Given the description of an element on the screen output the (x, y) to click on. 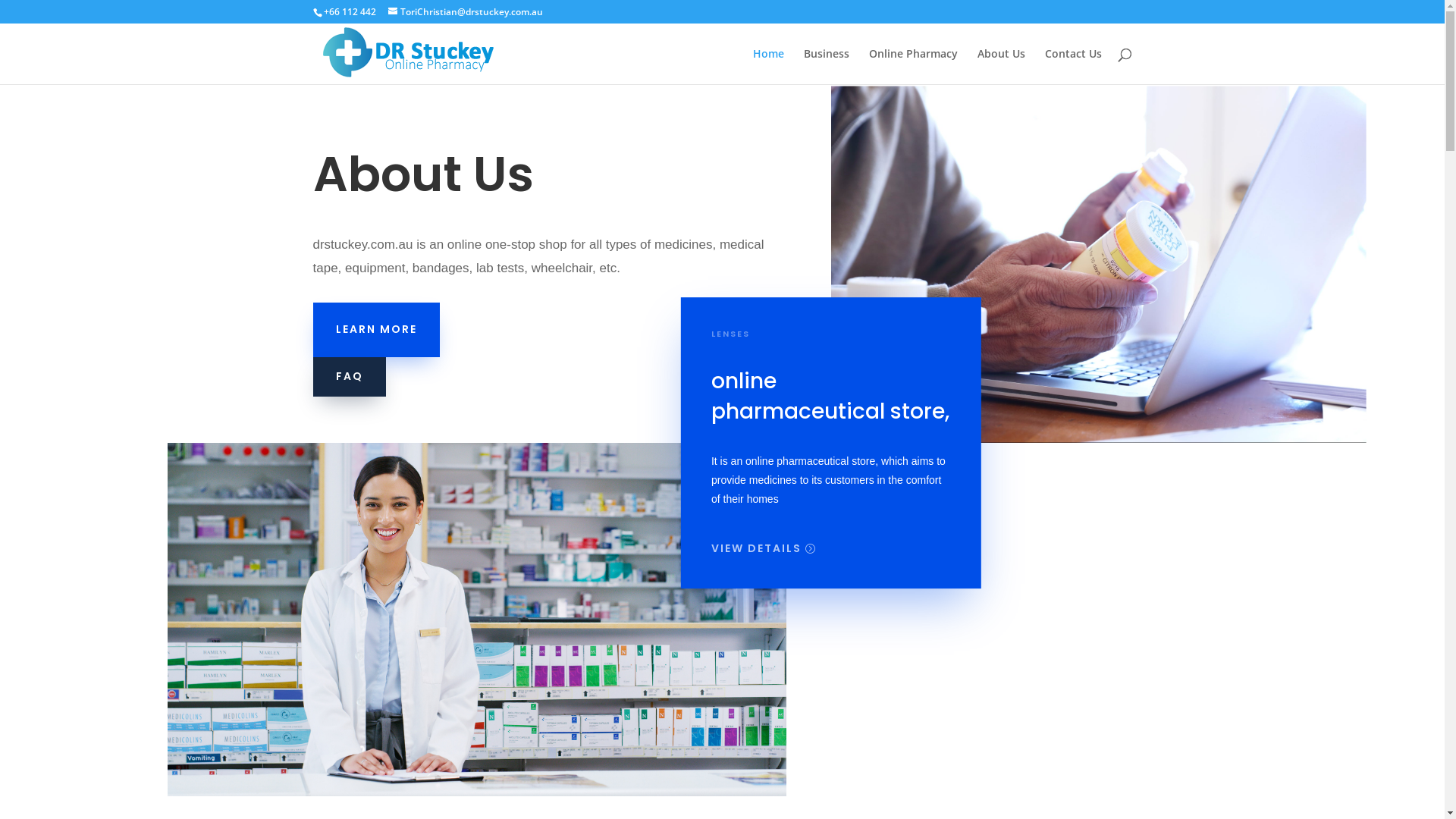
VIEW DETAILS Element type: text (756, 548)
1597323669-GettyImages-837647832 Element type: hover (1054, 234)
About Us Element type: text (1000, 66)
There's sure to be a treatment around here for you Element type: hover (475, 619)
LEARN MORE Element type: text (375, 329)
Home Element type: text (767, 66)
FAQ Element type: text (348, 376)
Business Element type: text (826, 66)
ToriChristian@drstuckey.com.au Element type: text (465, 11)
Online Pharmacy Element type: text (913, 66)
Contact Us Element type: text (1072, 66)
